Given the description of an element on the screen output the (x, y) to click on. 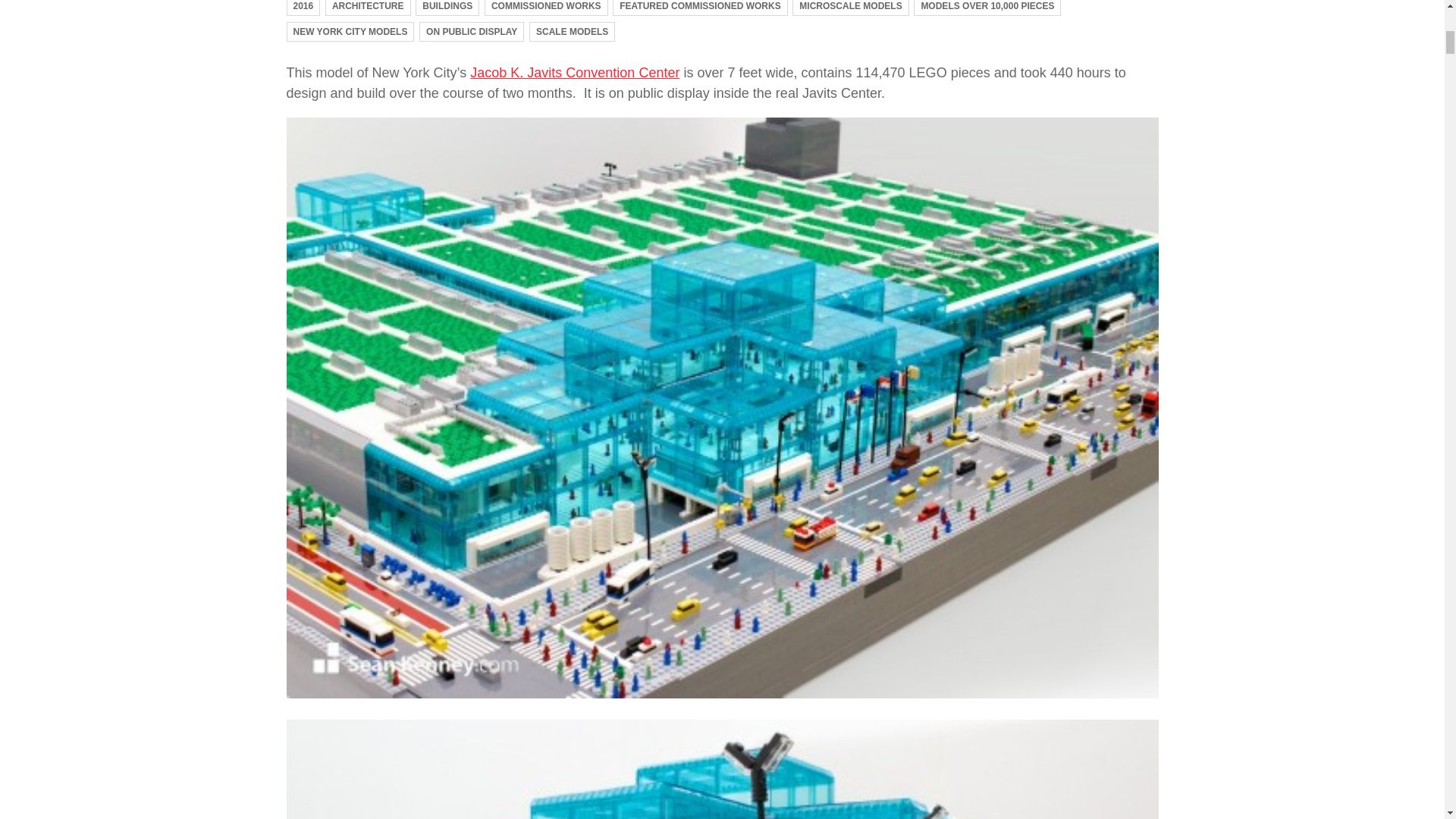
2016 (303, 7)
ARCHITECTURE (367, 7)
BUILDINGS (446, 7)
COMMISSIONED WORKS (546, 7)
